Given the description of an element on the screen output the (x, y) to click on. 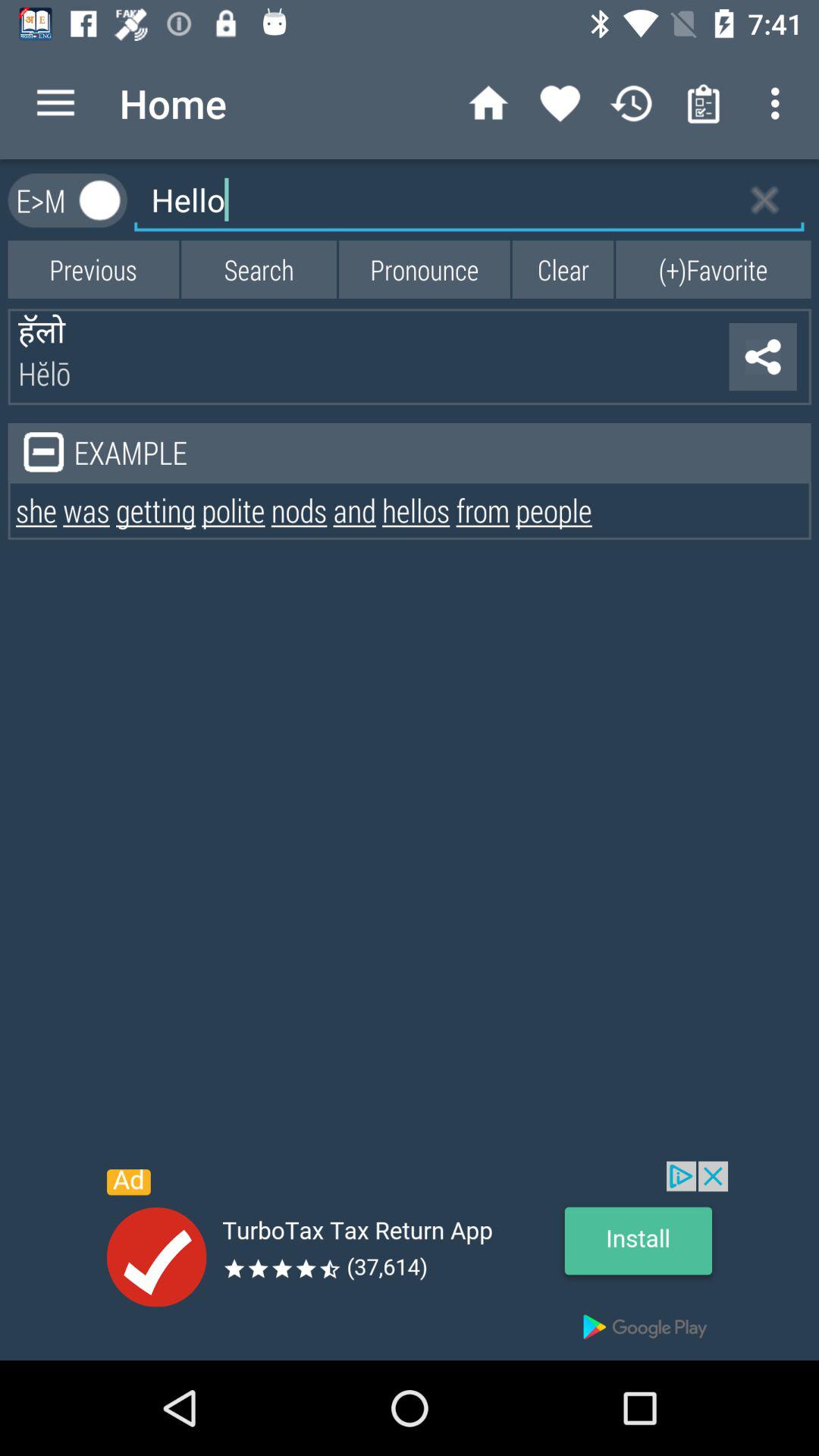
install different app (409, 1260)
